Given the description of an element on the screen output the (x, y) to click on. 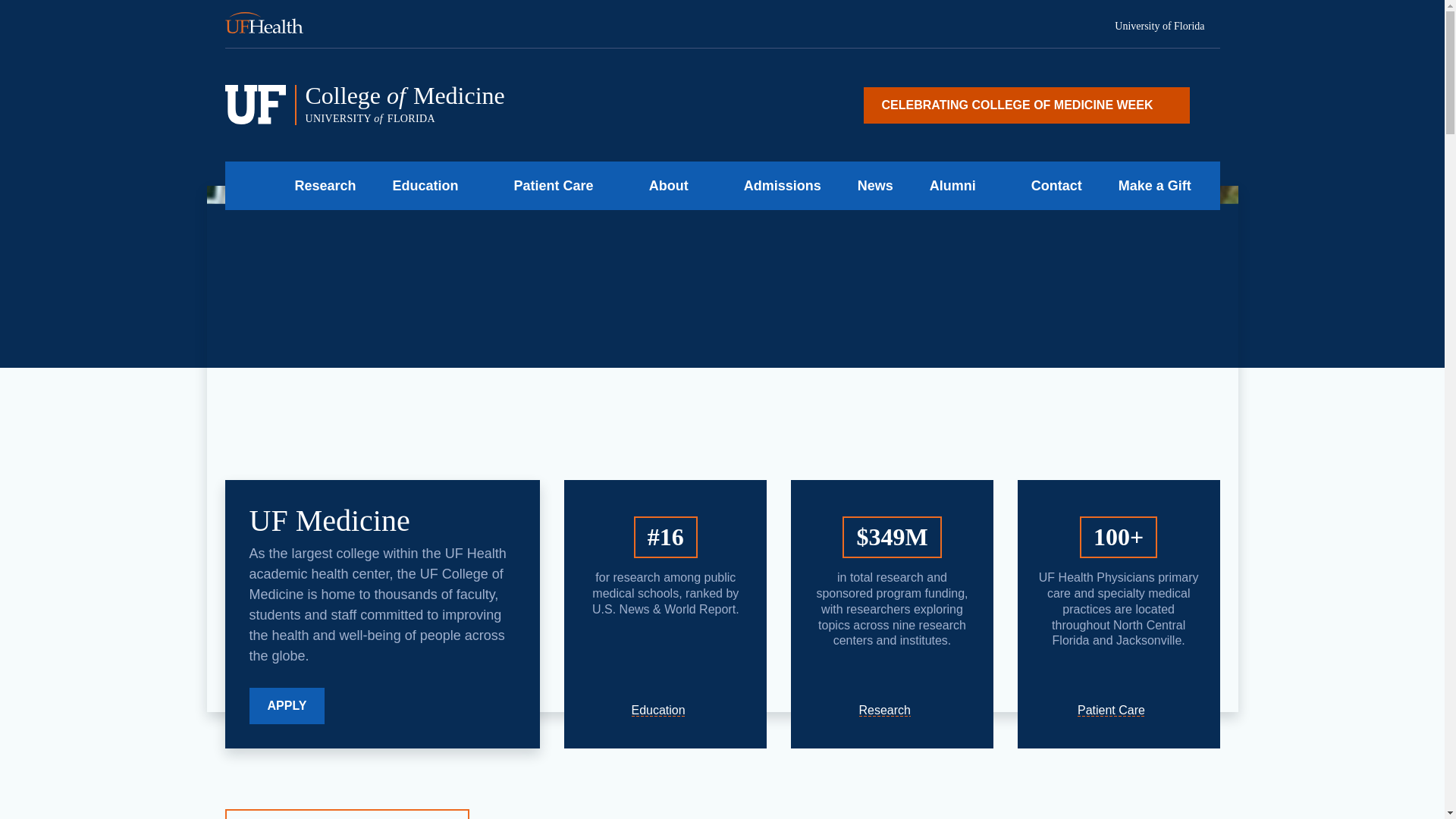
University of Florida (515, 105)
Education (1167, 26)
Skip to main content (665, 709)
Skip to main content (1026, 104)
Patient Care (420, 185)
UF Health (1117, 709)
Home (272, 24)
